Given the description of an element on the screen output the (x, y) to click on. 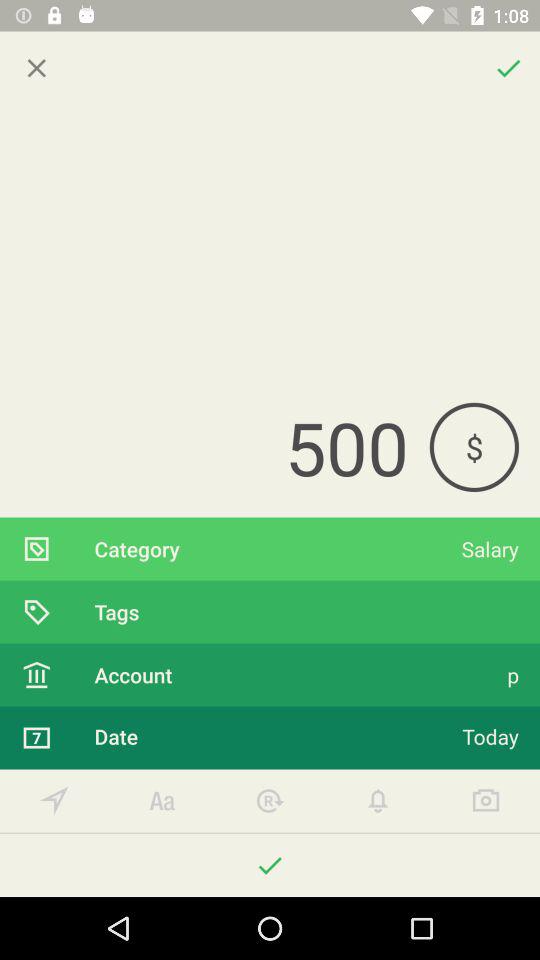
flip to $ icon (474, 446)
